Given the description of an element on the screen output the (x, y) to click on. 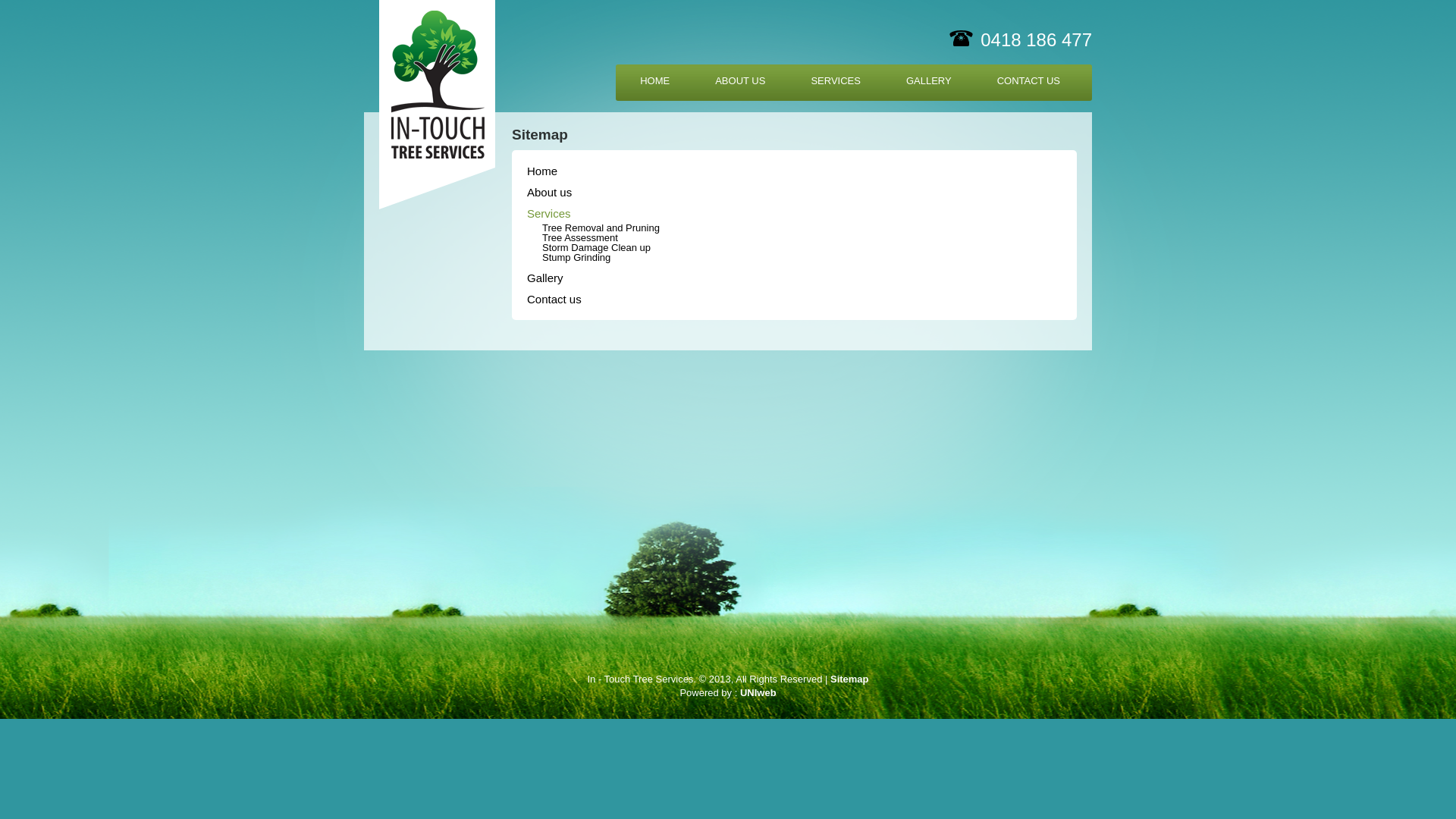
About us Element type: text (549, 191)
Home Element type: text (542, 170)
Stump Grinding Element type: text (576, 257)
SERVICES Element type: text (835, 82)
Gallery Element type: text (545, 277)
CONTACT US Element type: text (1028, 82)
HOME Element type: text (654, 82)
Storm Damage Clean up Element type: text (596, 247)
UNIweb Element type: text (758, 692)
Tree Removal and Pruning Element type: text (600, 227)
ABOUT US Element type: text (740, 82)
Tree Assessment Element type: text (580, 237)
GALLERY Element type: text (928, 82)
Contact us Element type: text (554, 298)
Sitemap Element type: text (849, 678)
